Given the description of an element on the screen output the (x, y) to click on. 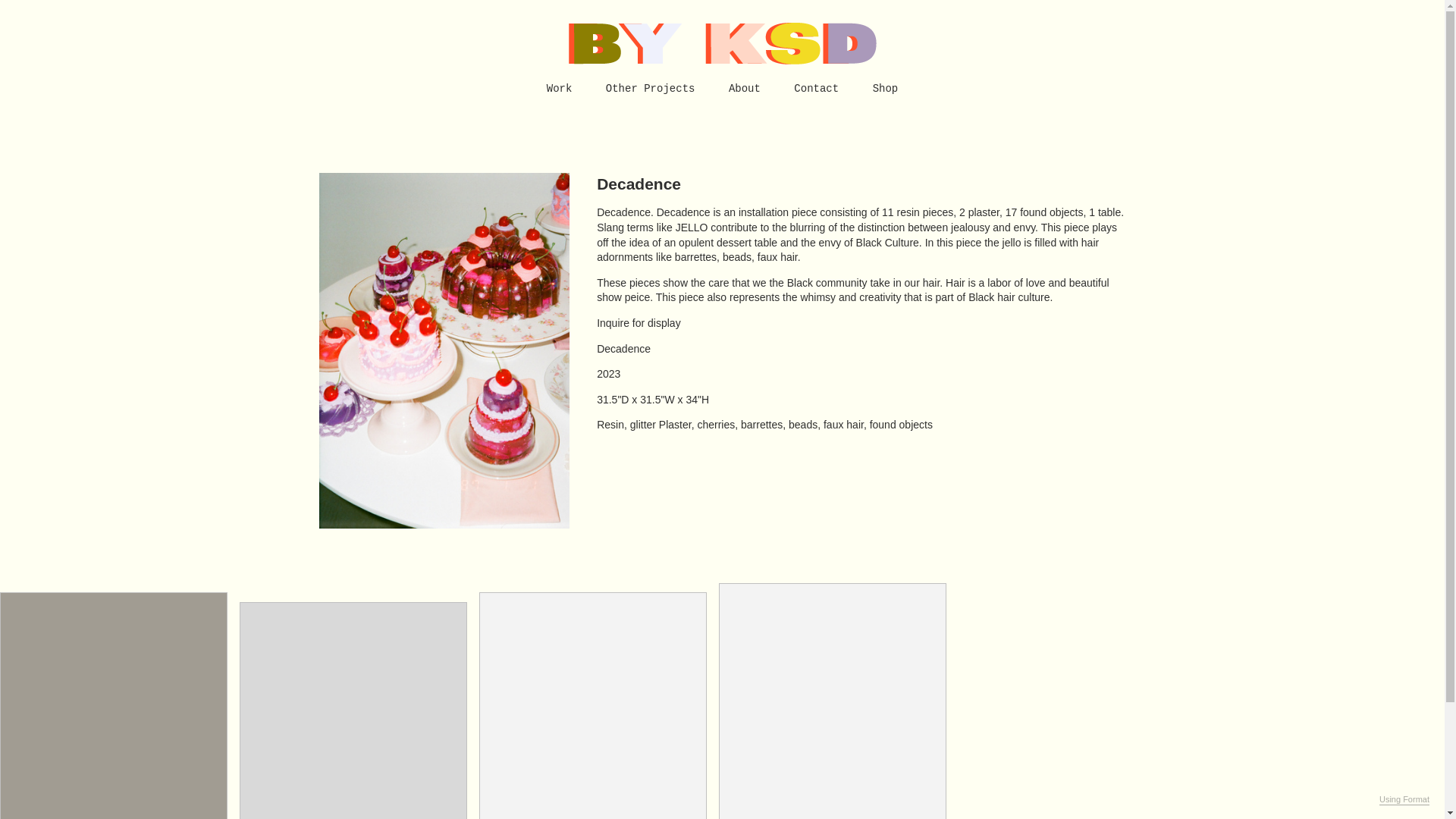
Shop (885, 88)
Using Format (1403, 799)
Other Projects (650, 88)
Contact (815, 88)
About (744, 88)
Work (559, 88)
